Given the description of an element on the screen output the (x, y) to click on. 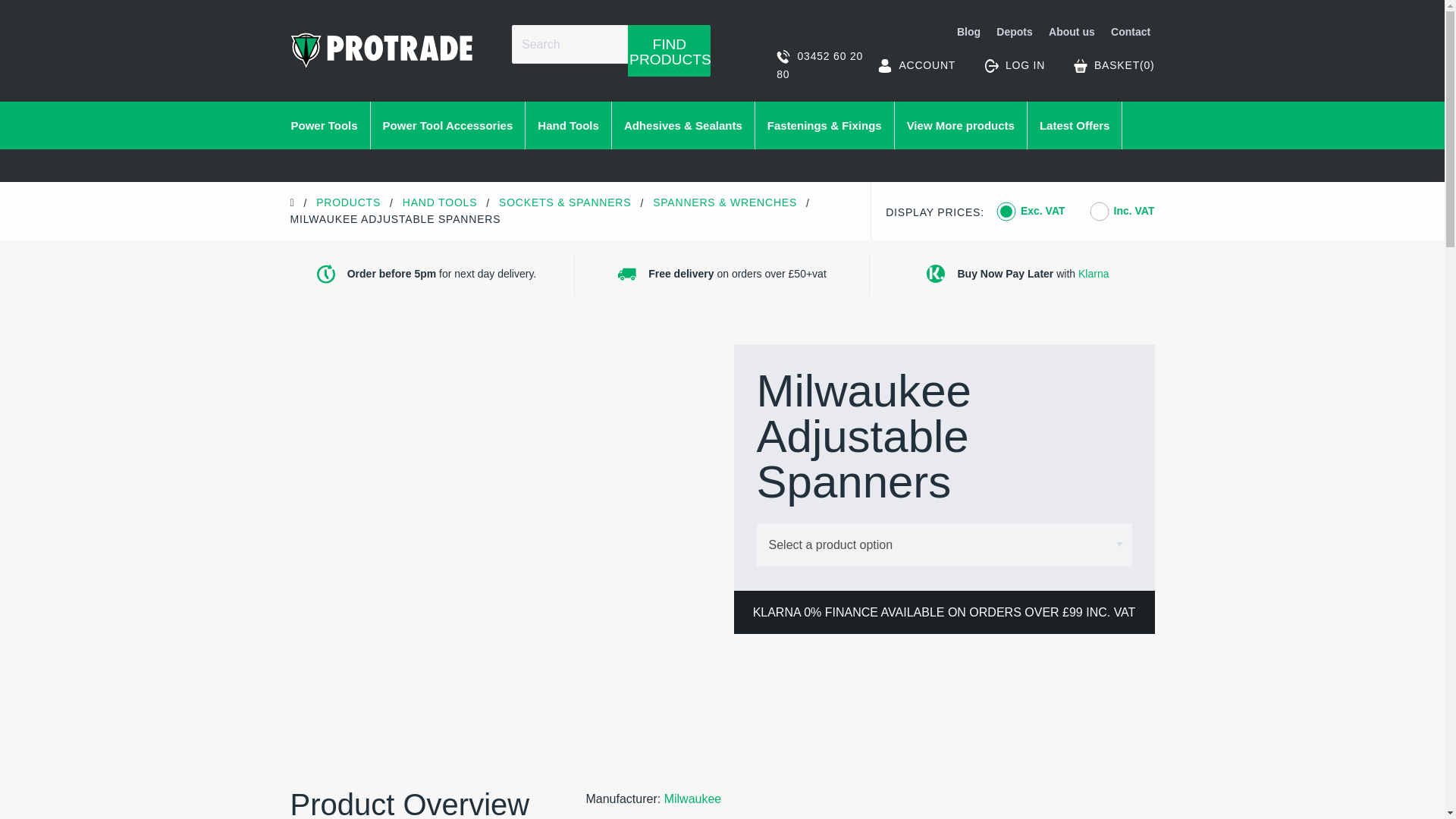
Blog (969, 32)
Customer reviews powered by Trustpilot (722, 167)
Contact (1128, 32)
FIND PRODUCTS (668, 50)
View Basket (1114, 65)
Hand Tools. (440, 202)
Products. (347, 202)
03452 60 20 80 (821, 64)
Depots (1014, 32)
ACCOUNT (916, 65)
